Given the description of an element on the screen output the (x, y) to click on. 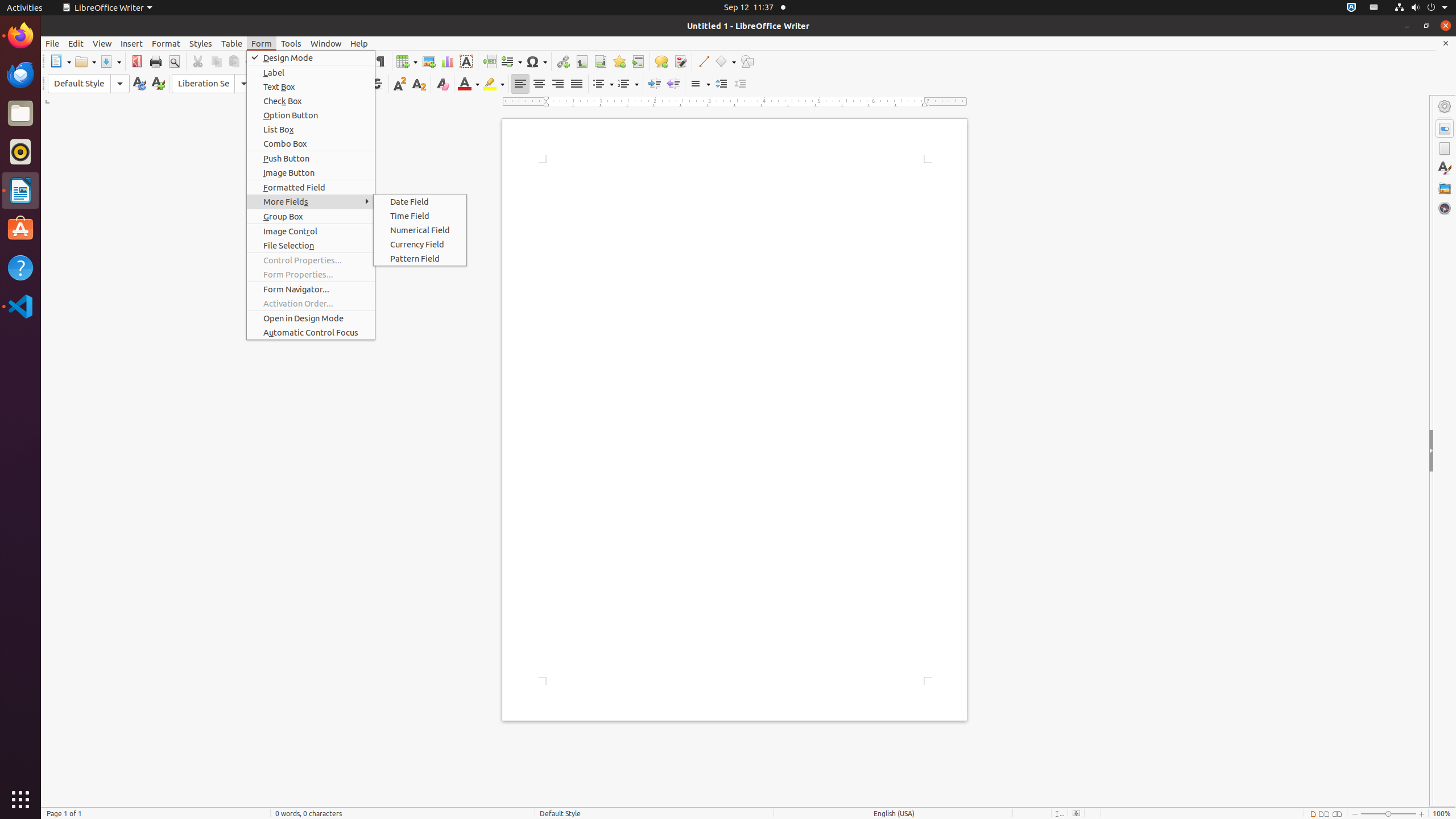
New Element type: push-button (157, 83)
Currency Field Element type: check-menu-item (419, 244)
Paragraph Style Element type: combo-box (88, 83)
Check Box Element type: check-menu-item (310, 100)
Line Spacing Element type: push-button (699, 83)
